Given the description of an element on the screen output the (x, y) to click on. 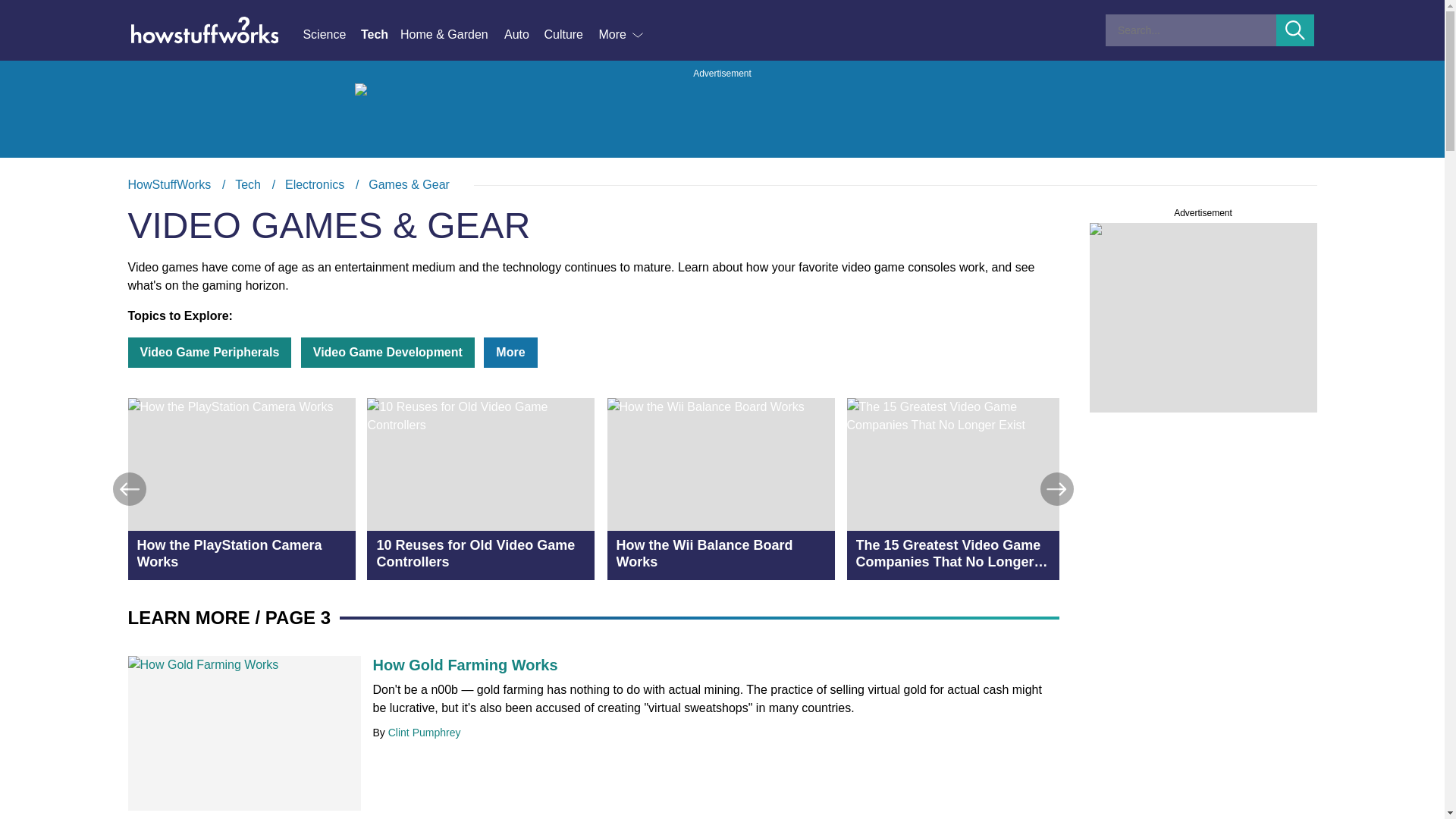
HowStuffWorks (169, 184)
Tech (247, 184)
Electronics (314, 184)
Auto (523, 34)
Tech (380, 34)
Culture (570, 34)
Science (330, 34)
More (621, 34)
Submit Search (1295, 29)
